Given the description of an element on the screen output the (x, y) to click on. 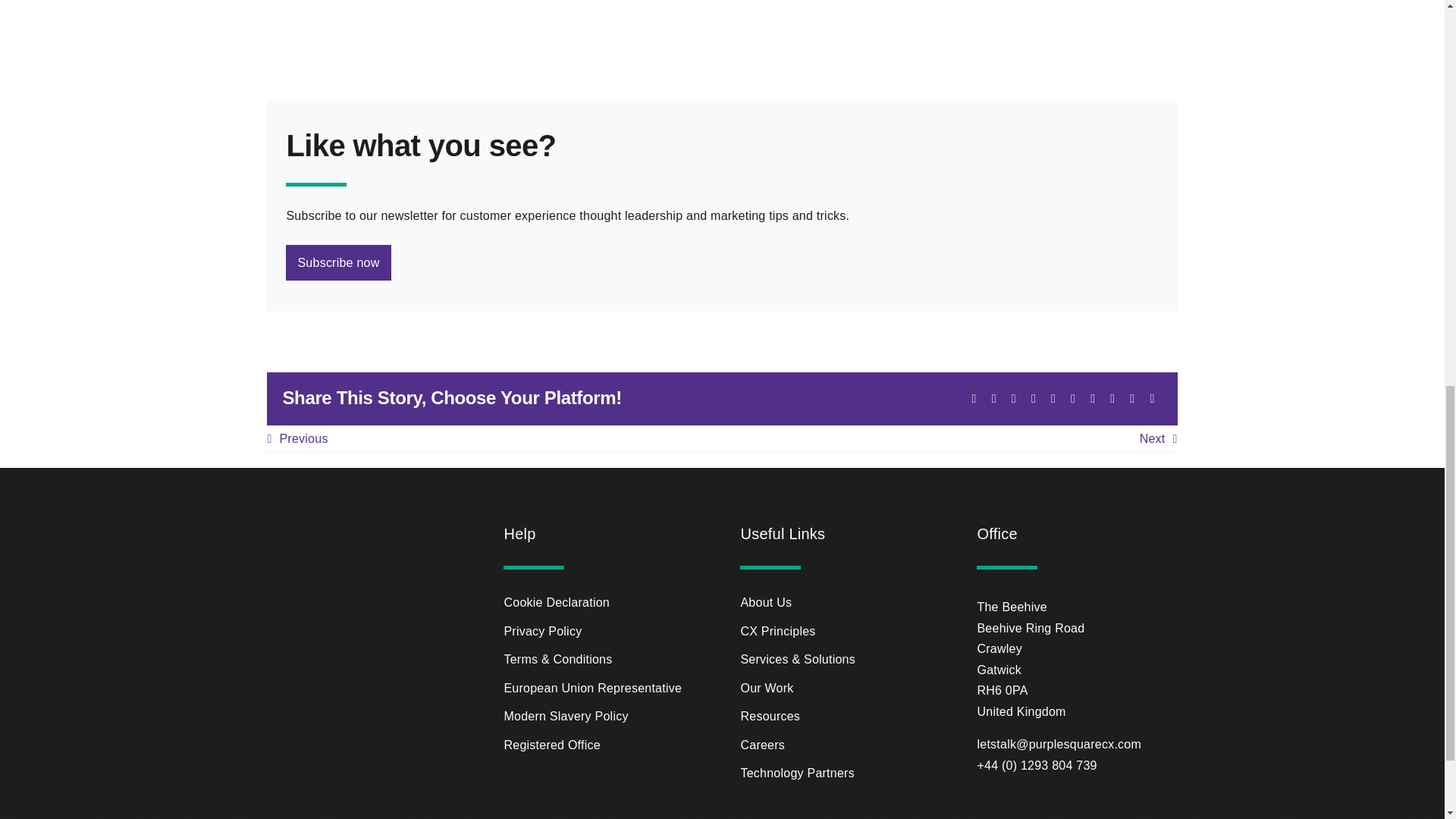
Tumblr (1072, 398)
X (973, 398)
Xing (1131, 398)
LinkedIn (1013, 398)
Telegram (1052, 398)
Subscribe now (721, 262)
Email (1151, 398)
Reddit (994, 398)
Pinterest (1092, 398)
